Given the description of an element on the screen output the (x, y) to click on. 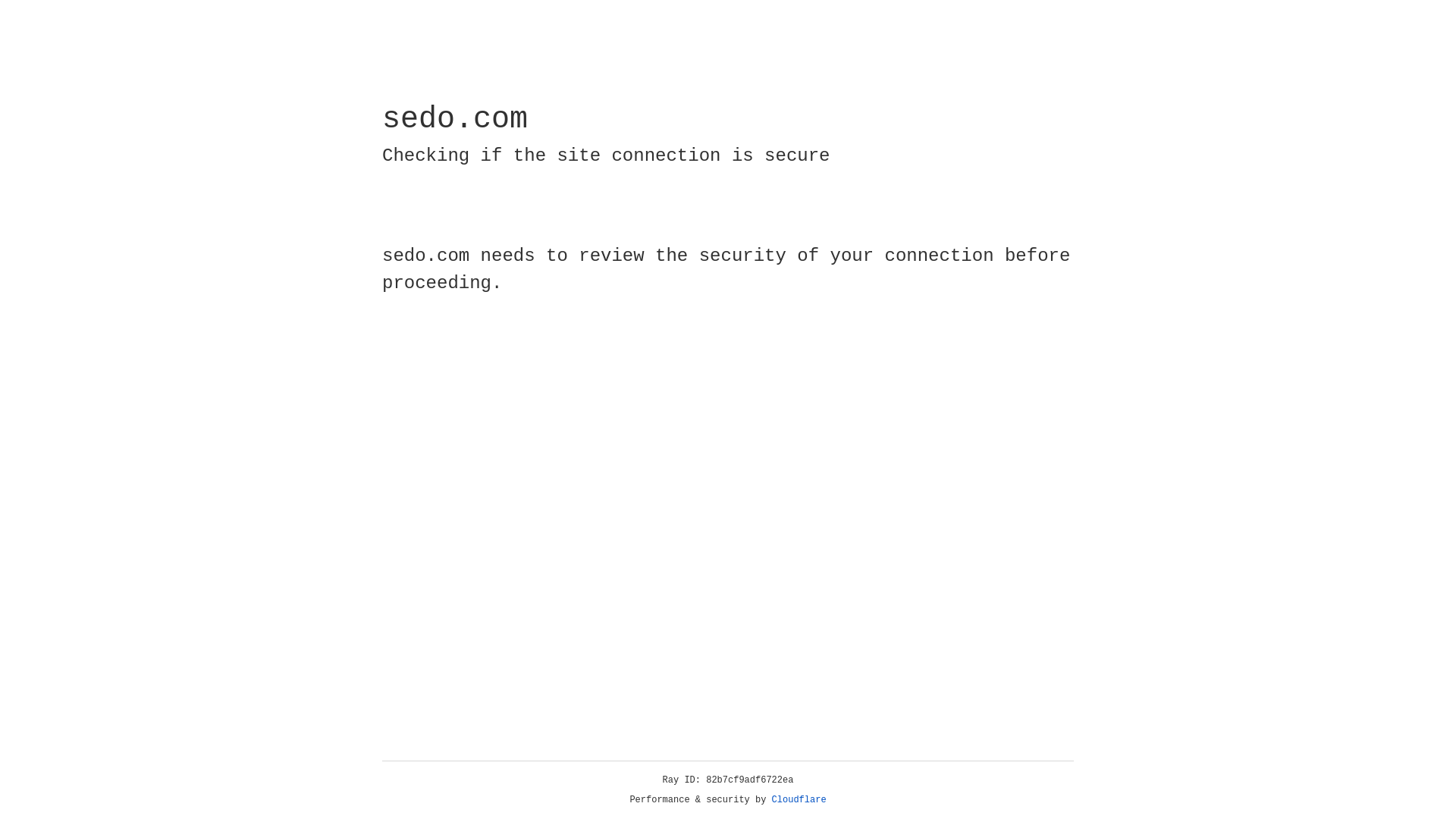
Cloudflare Element type: text (798, 799)
